Given the description of an element on the screen output the (x, y) to click on. 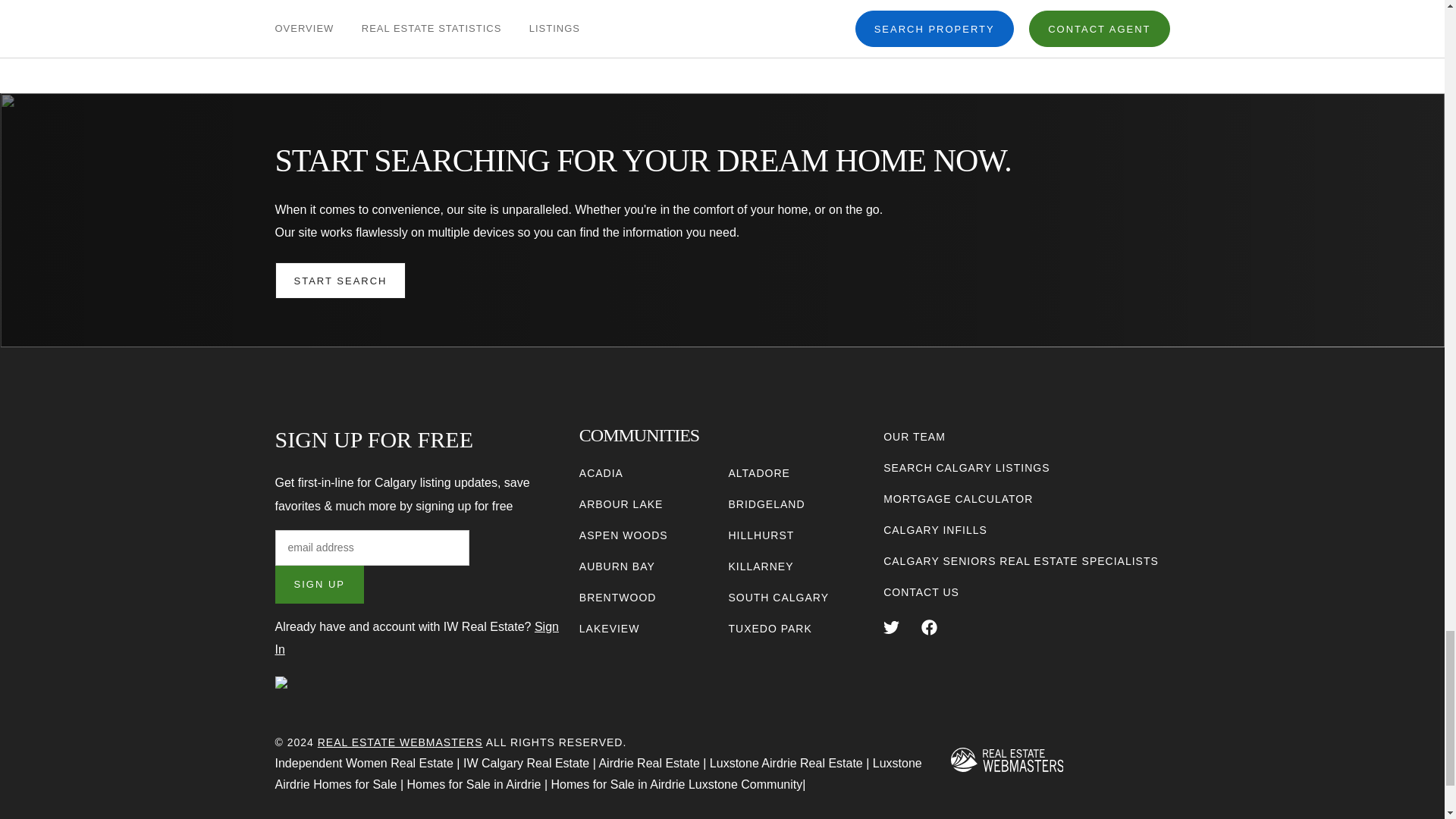
TWITTER (891, 627)
FACEBOOK (929, 627)
